Given the description of an element on the screen output the (x, y) to click on. 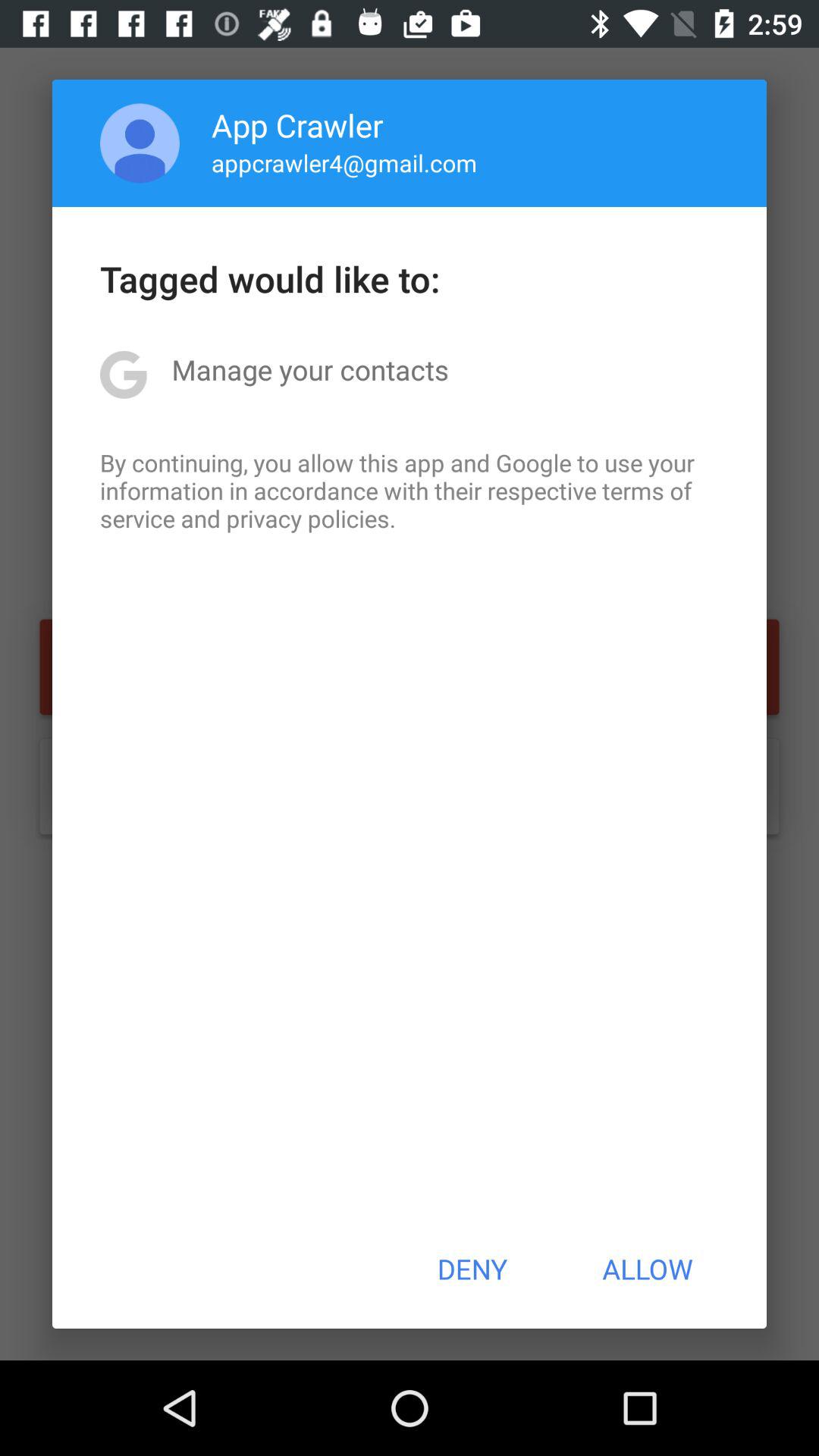
click item below tagged would like icon (309, 369)
